Given the description of an element on the screen output the (x, y) to click on. 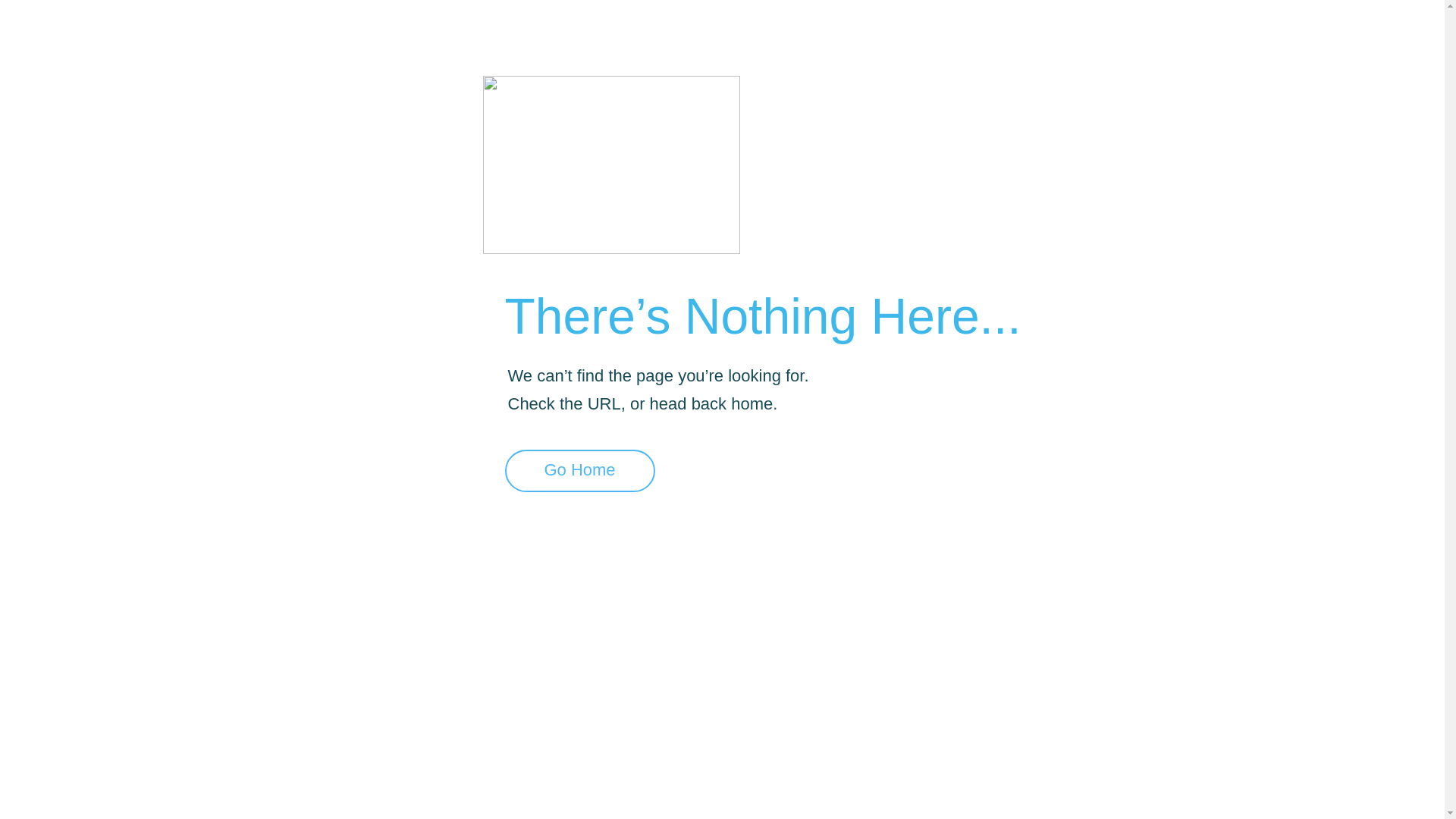
404-icon_2.png Element type: hover (610, 164)
Go Home Element type: text (580, 470)
